Given the description of an element on the screen output the (x, y) to click on. 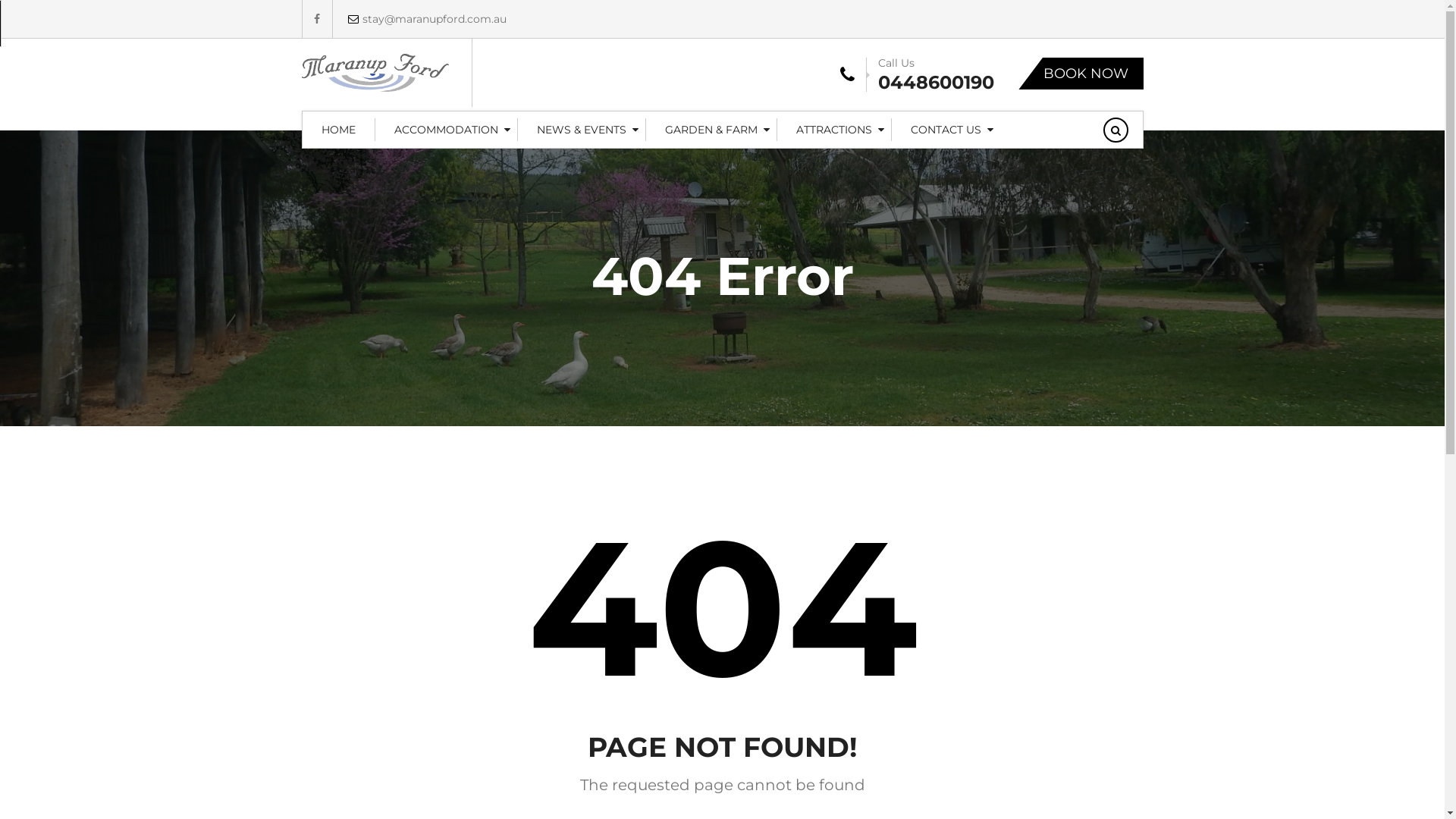
BOOK NOW Element type: text (1079, 73)
CONTACT US Element type: text (945, 129)
ACCOMMODATION Element type: text (445, 129)
Facebook Element type: hover (316, 18)
stay@maranupford.com.au Element type: text (419, 18)
GARDEN & FARM Element type: text (711, 129)
NEWS & EVENTS Element type: text (580, 129)
ATTRACTIONS Element type: text (833, 129)
HOME Element type: text (337, 129)
